Given the description of an element on the screen output the (x, y) to click on. 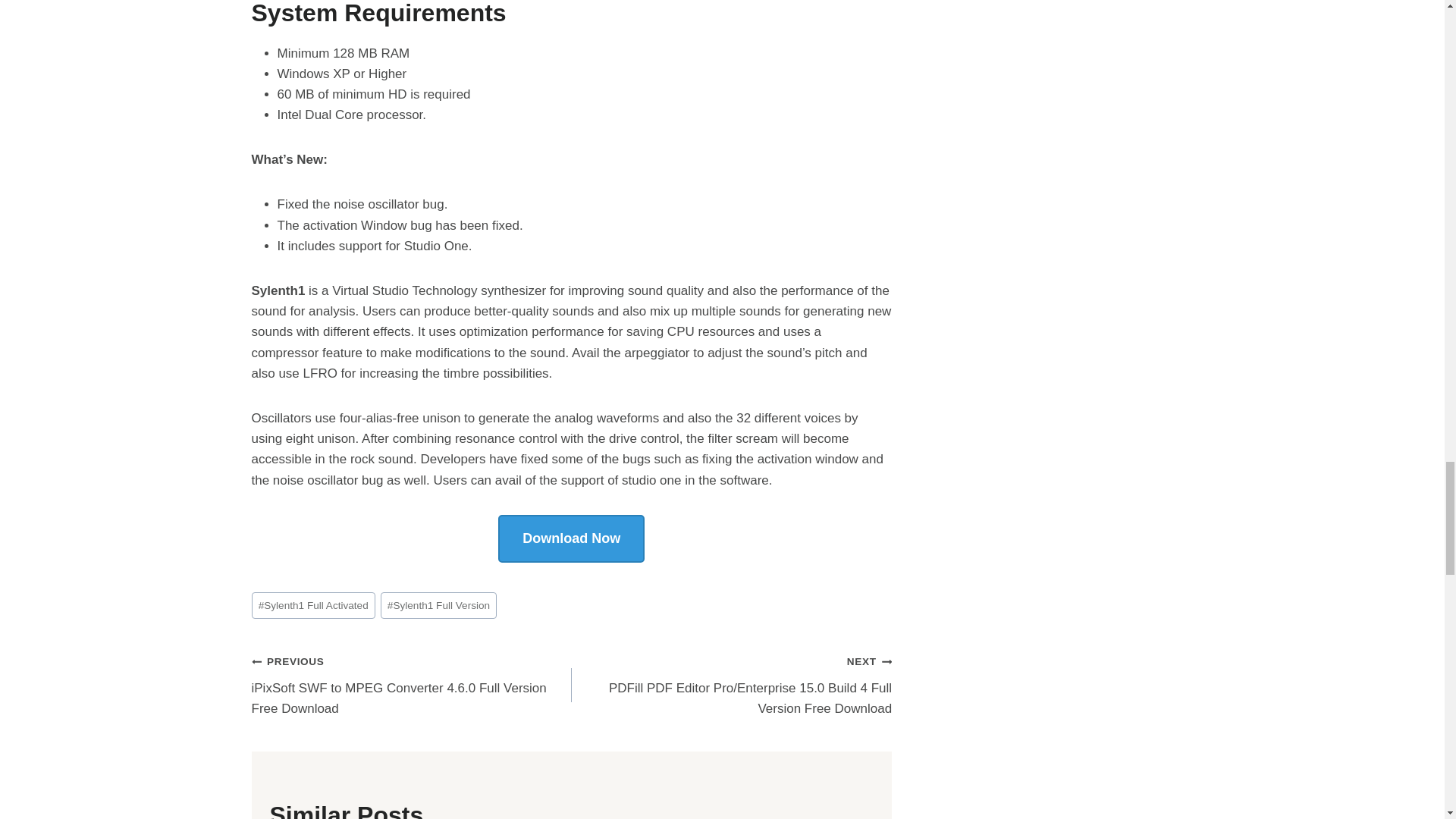
Sylenth1 Full Activated (313, 605)
Sylenth1 Full Version (438, 605)
Download Now (571, 538)
